Given the description of an element on the screen output the (x, y) to click on. 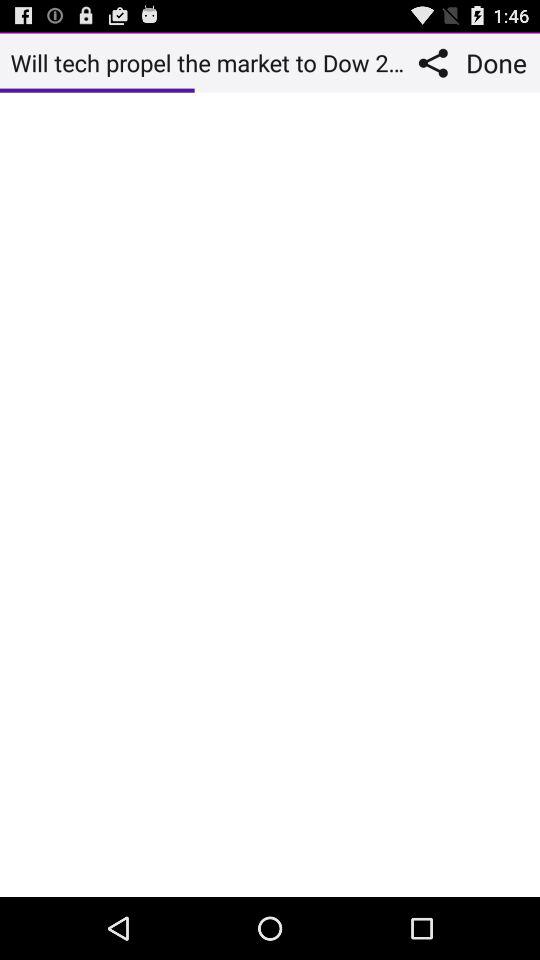
turn on the item to the left of done app (438, 62)
